Given the description of an element on the screen output the (x, y) to click on. 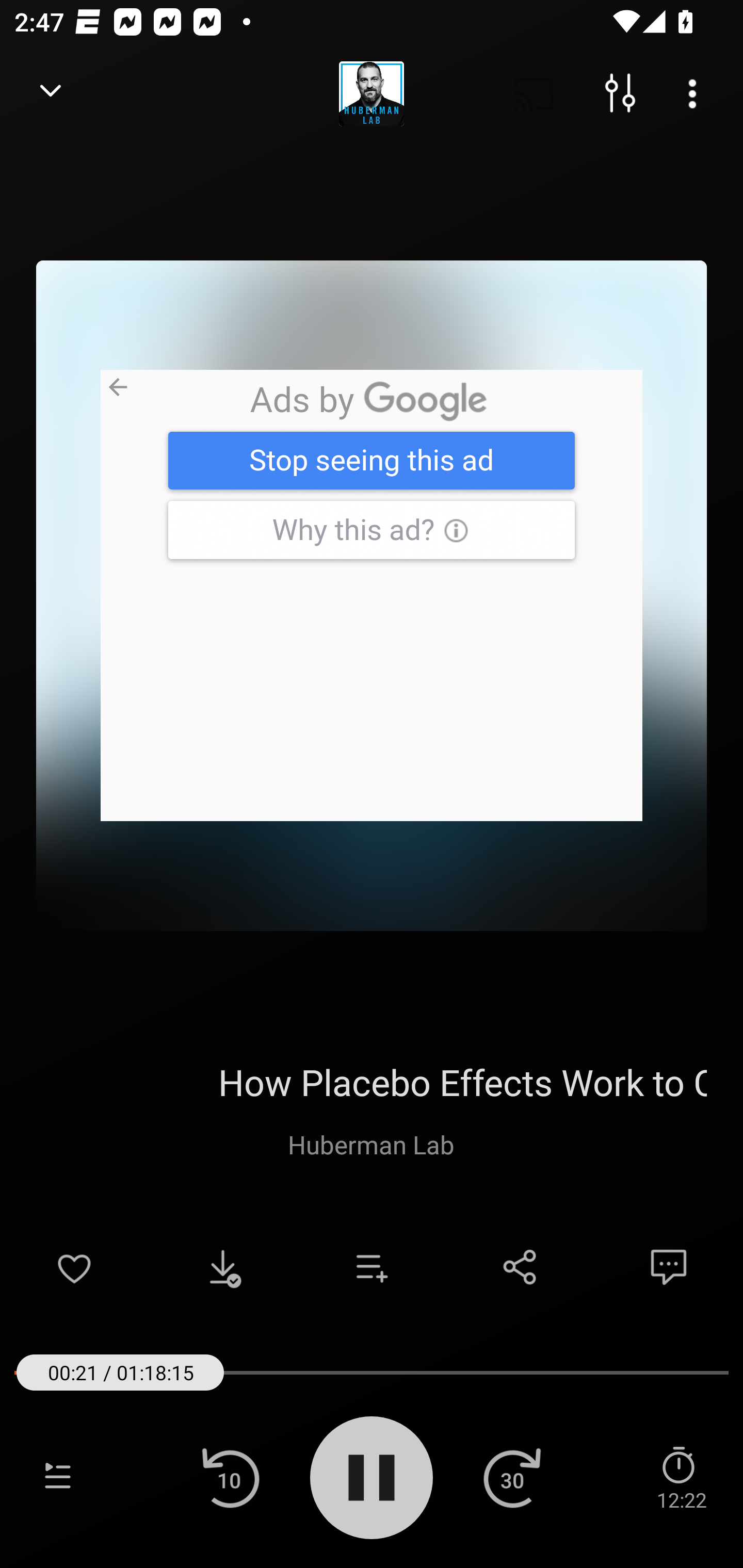
 Back (50, 94)
Watcher of … Pre-register Pre-register (371, 595)
Huberman Lab (370, 1144)
Comments (668, 1266)
Add to Favorites (73, 1266)
Add to playlist (371, 1266)
Share (519, 1266)
Sleep Timer  12:22 (681, 1477)
 Playlist (57, 1477)
